Given the description of an element on the screen output the (x, y) to click on. 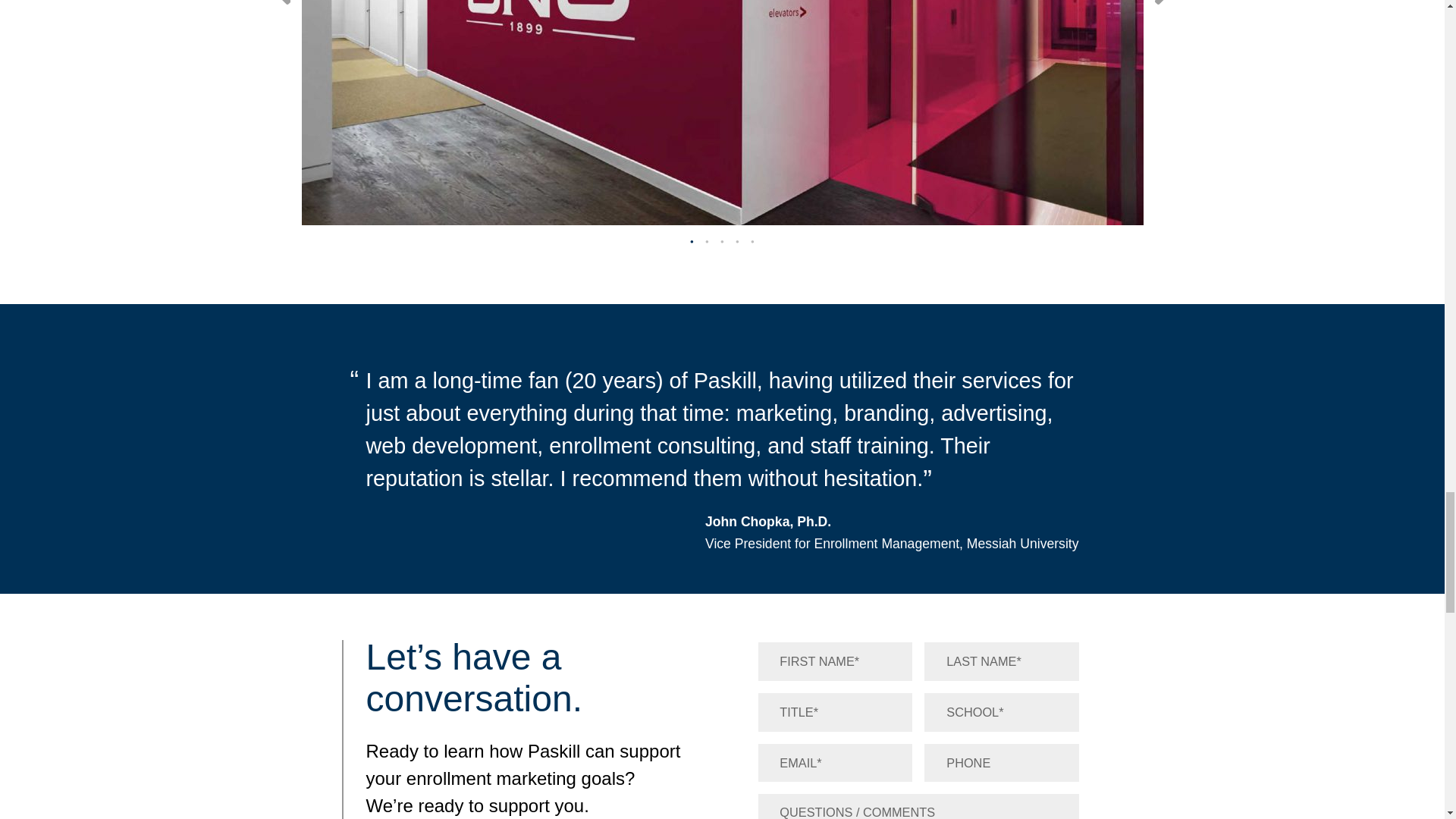
1 (691, 241)
Next (1163, 2)
2 (706, 241)
4 (736, 241)
Previous (279, 2)
5 (752, 241)
3 (721, 241)
